Given the description of an element on the screen output the (x, y) to click on. 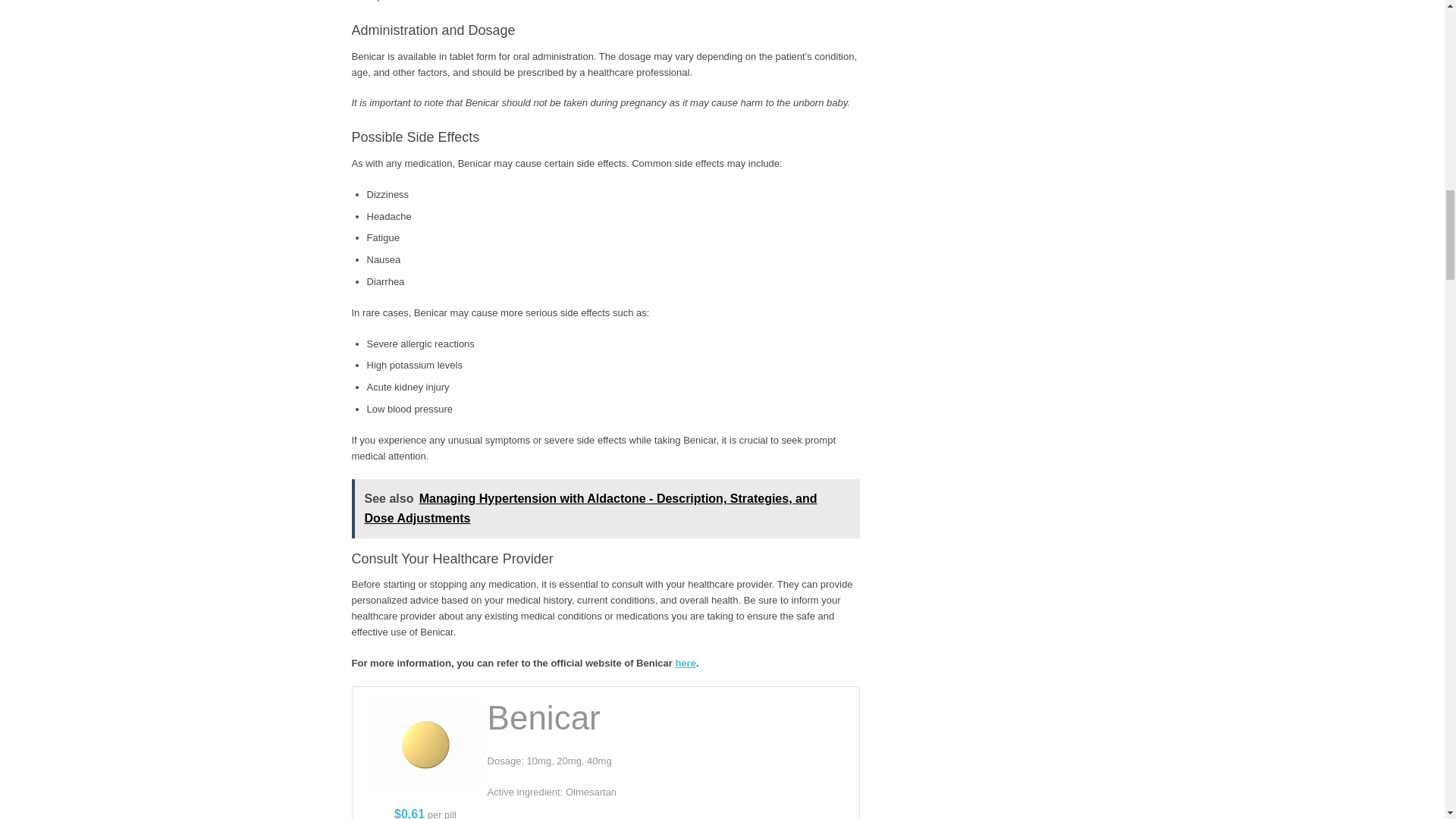
here (685, 663)
